Given the description of an element on the screen output the (x, y) to click on. 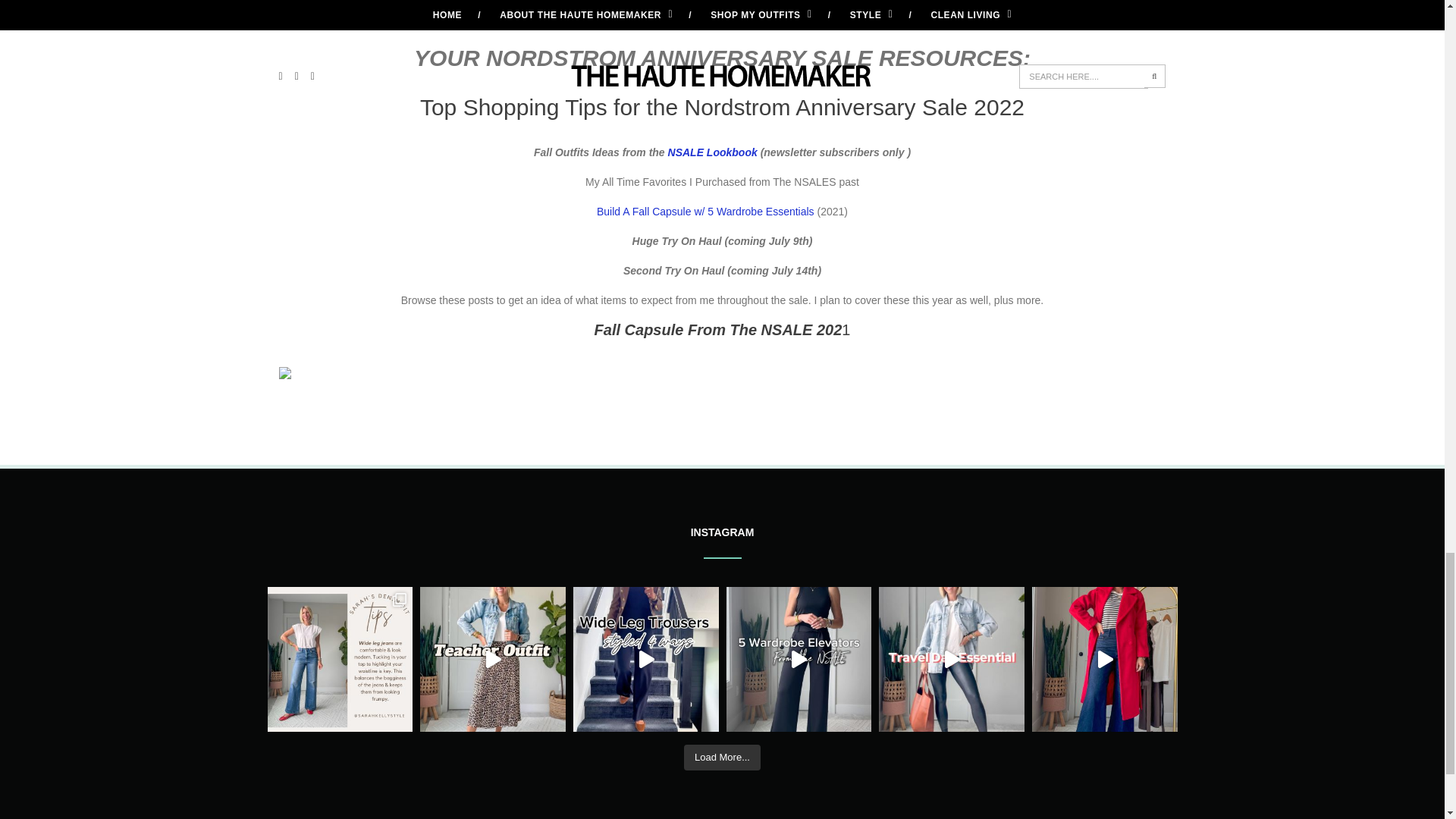
Top Shopping Tips for the Nordstrom Anniversary Sale 2022 (722, 107)
NSALE Lookbook (712, 152)
